Given the description of an element on the screen output the (x, y) to click on. 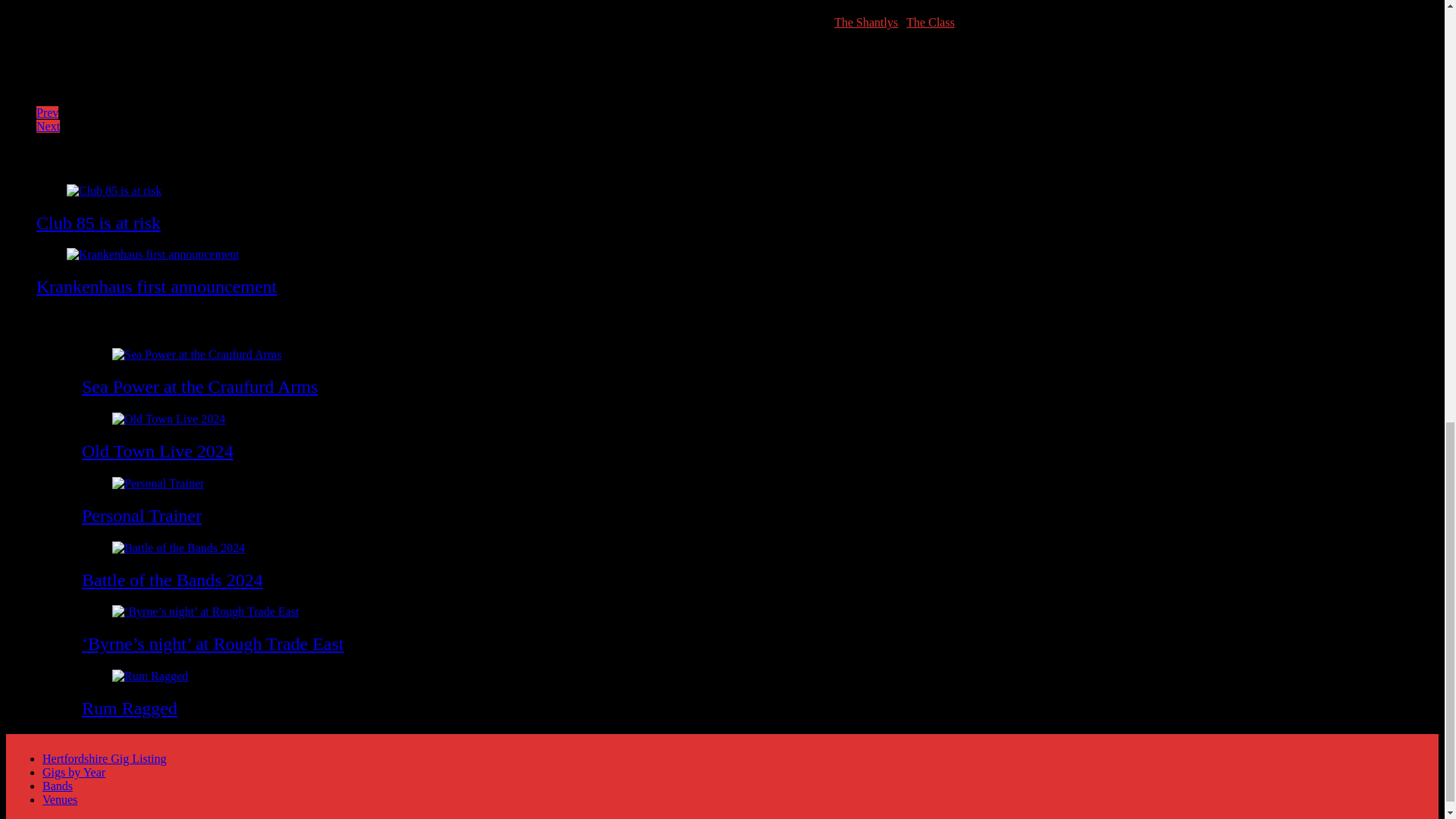
Next (47, 125)
Old Town Live 2024 (156, 451)
The Class (930, 21)
Club 85 is at risk (98, 222)
Sea Power at the Craufurd Arms (199, 386)
Krankenhaus first announcement (156, 286)
Prev (47, 112)
Personal Trainer (141, 515)
The Shantlys (866, 21)
